Given the description of an element on the screen output the (x, y) to click on. 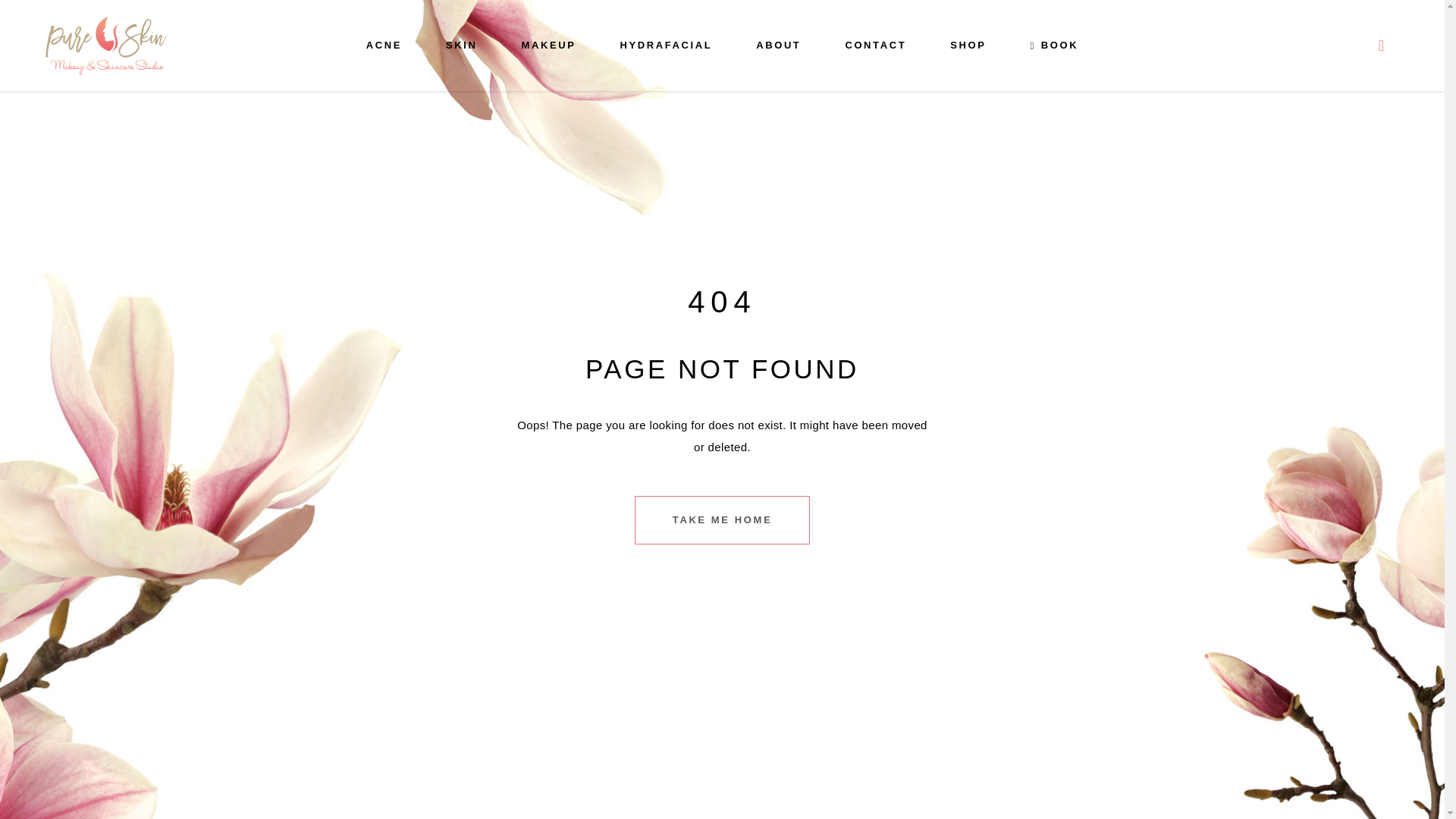
HYDRAFACIAL (664, 45)
CONTACT (875, 45)
ABOUT (777, 45)
MAKEUP (547, 45)
